Given the description of an element on the screen output the (x, y) to click on. 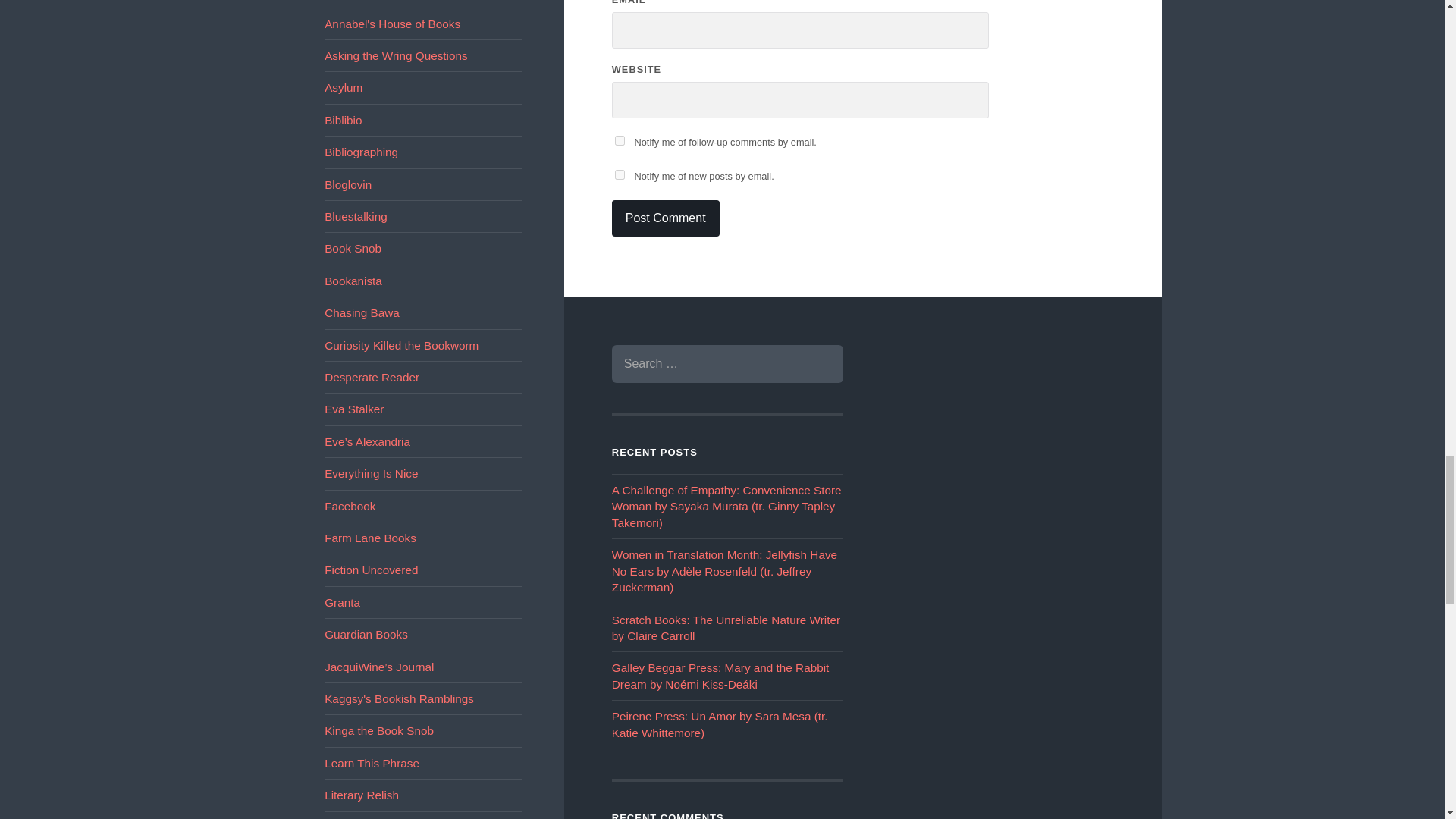
Post Comment (665, 217)
subscribe (619, 174)
subscribe (619, 140)
Search (820, 363)
Search (820, 363)
